Given the description of an element on the screen output the (x, y) to click on. 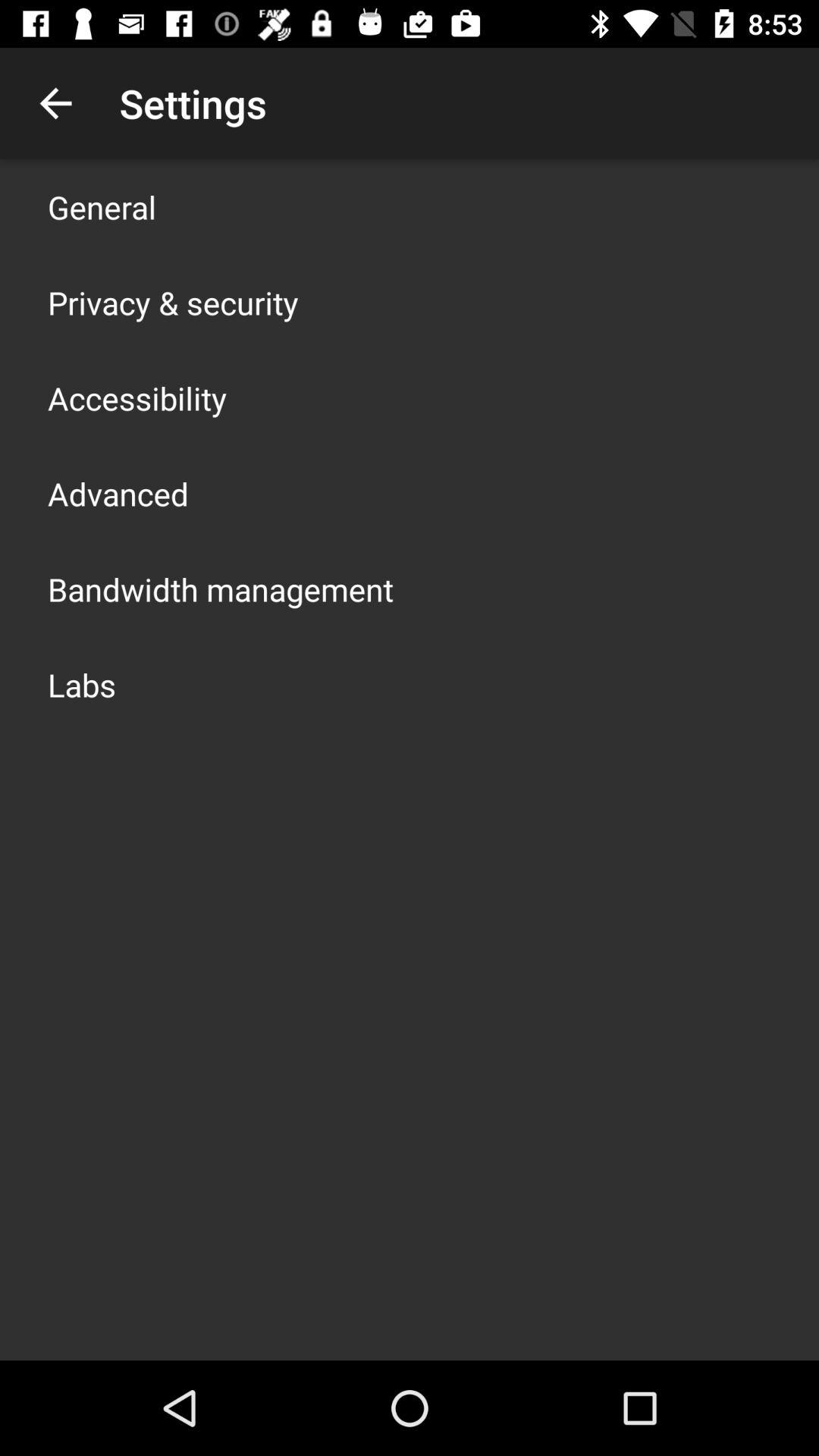
click item to the left of the settings icon (55, 103)
